Given the description of an element on the screen output the (x, y) to click on. 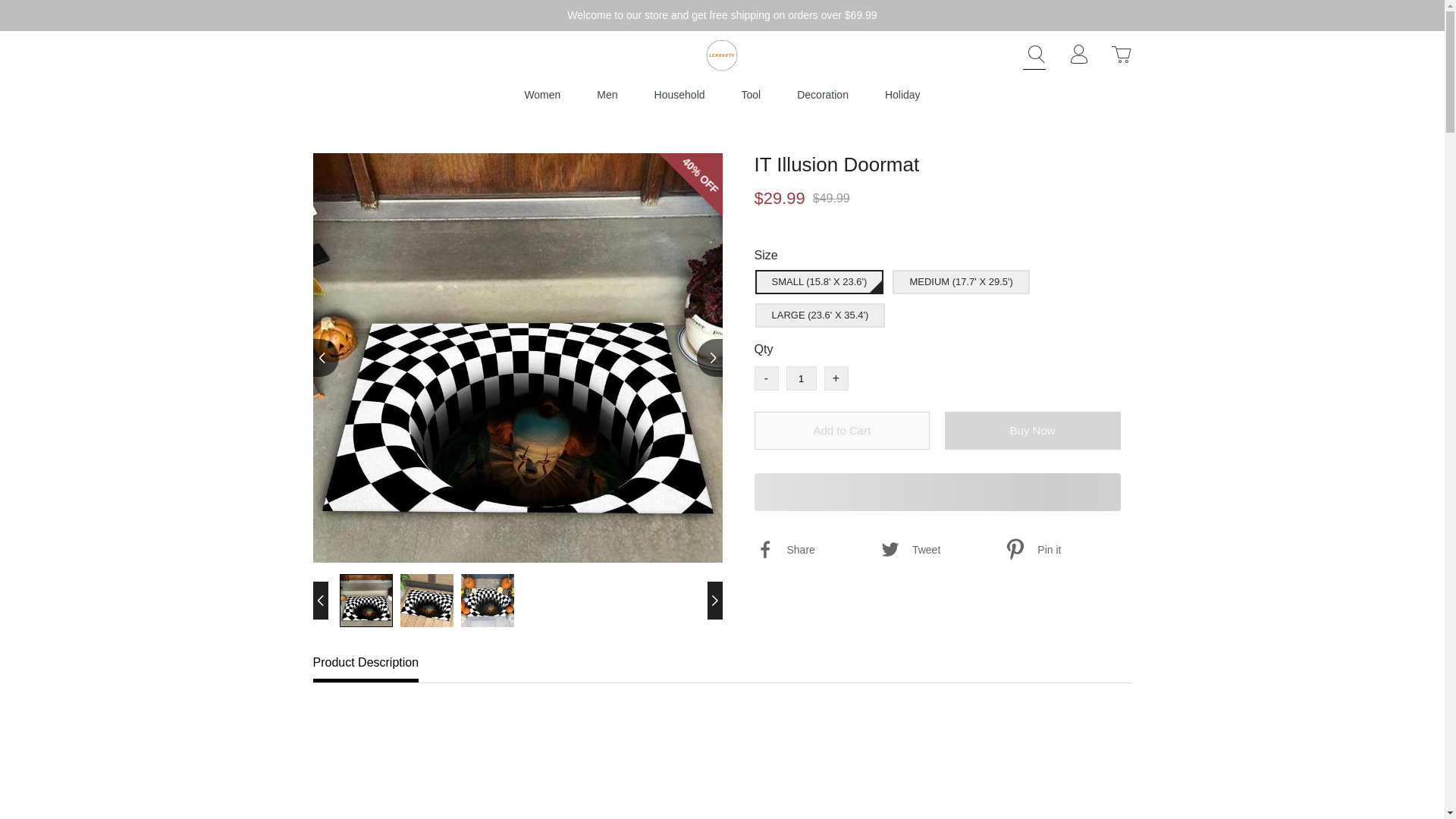
Women (542, 94)
Tool (751, 94)
Household (678, 94)
Buy Now (1032, 430)
Decoration (822, 94)
Holiday (902, 94)
Share (815, 549)
1 (800, 378)
Add to Cart (842, 430)
Men (606, 94)
